Given the description of an element on the screen output the (x, y) to click on. 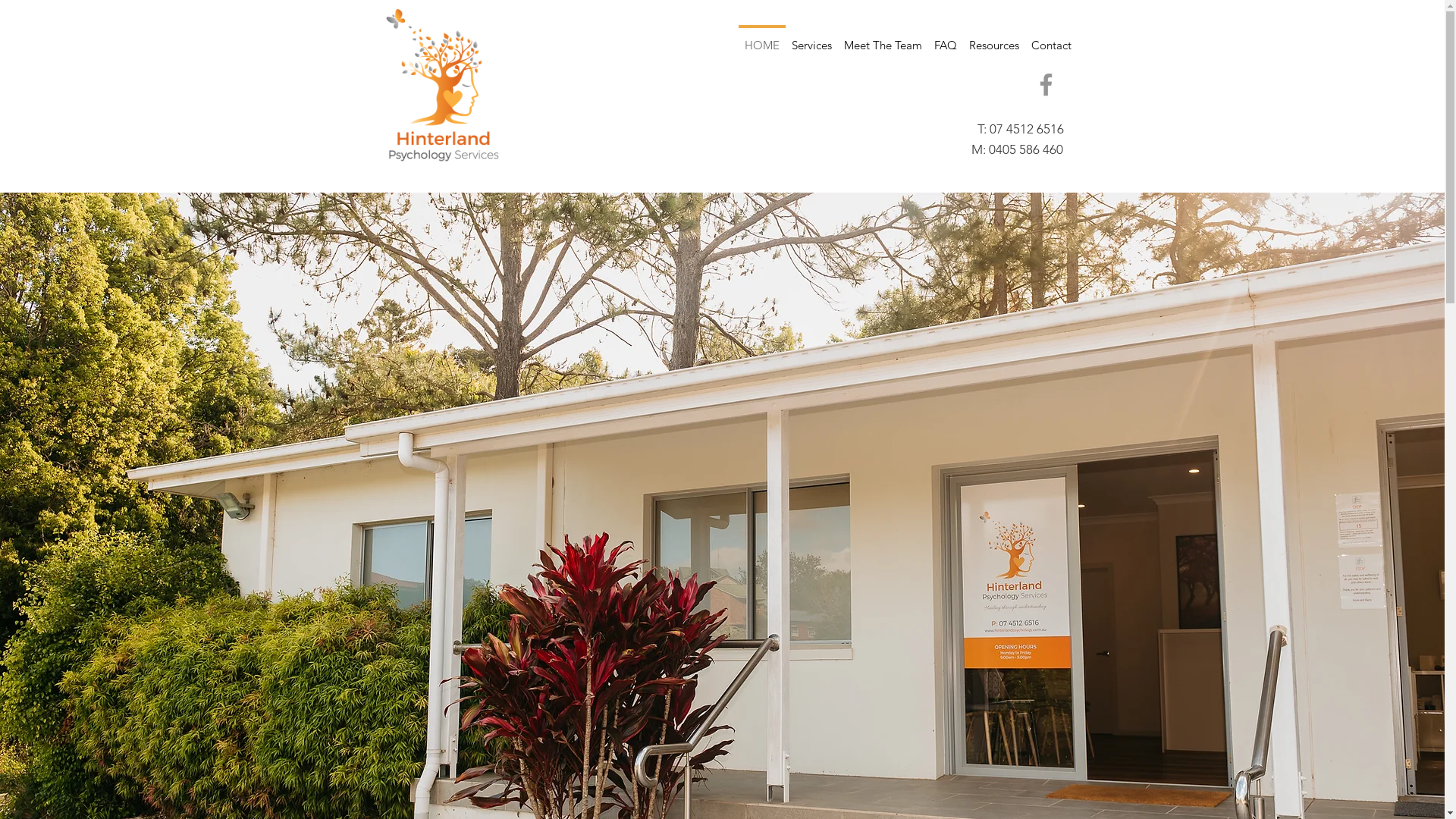
HOME Element type: text (761, 38)
T: 07 4512 6516    Element type: text (1024, 128)
Services Element type: text (811, 38)
Meet The Team Element type: text (882, 38)
Contact Element type: text (1051, 38)
M: 0405 586 460 Element type: text (1016, 147)
FAQ Element type: text (945, 38)
Resources Element type: text (994, 38)
